Given the description of an element on the screen output the (x, y) to click on. 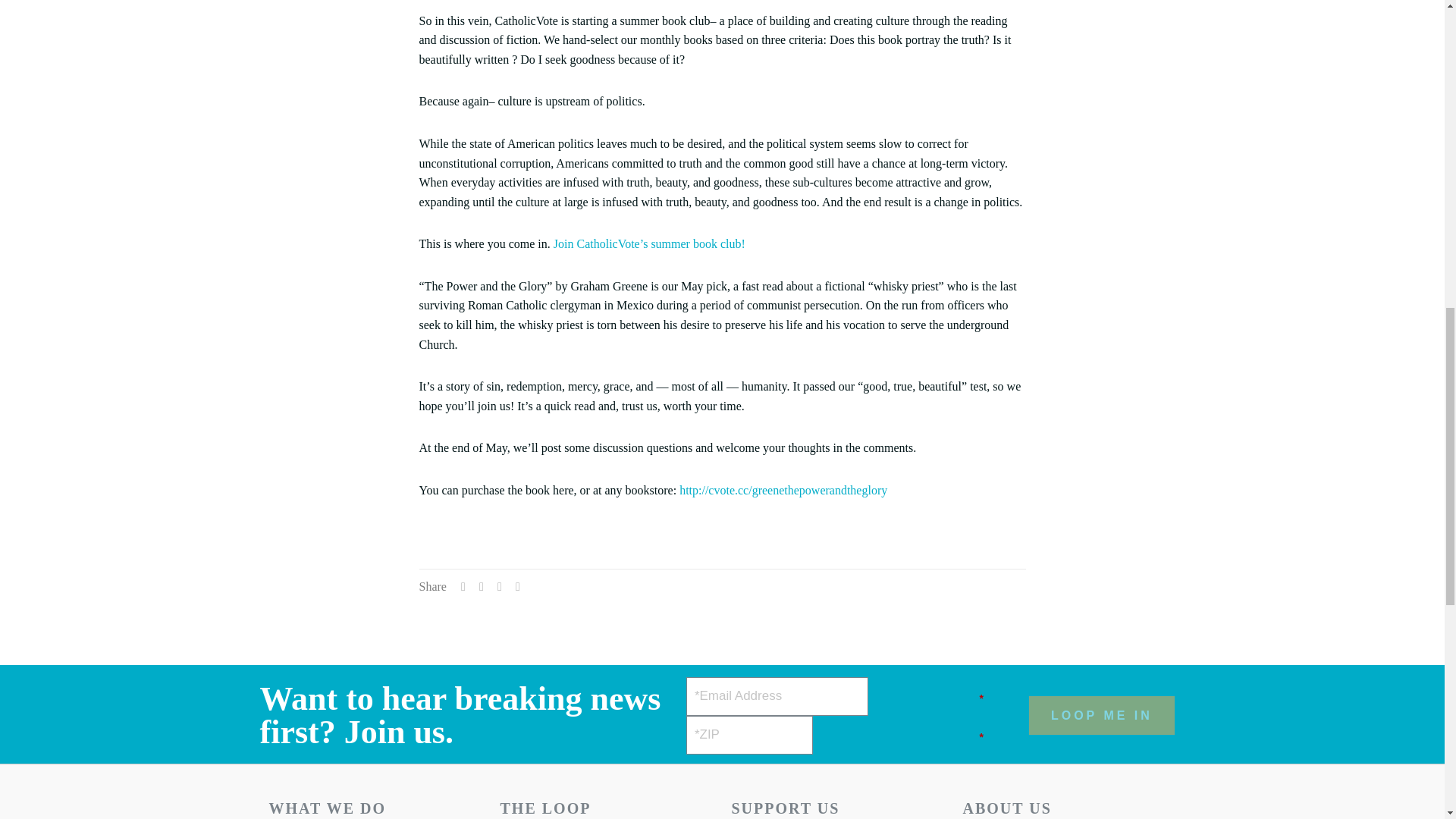
LOOP ME IN (1101, 715)
